Given the description of an element on the screen output the (x, y) to click on. 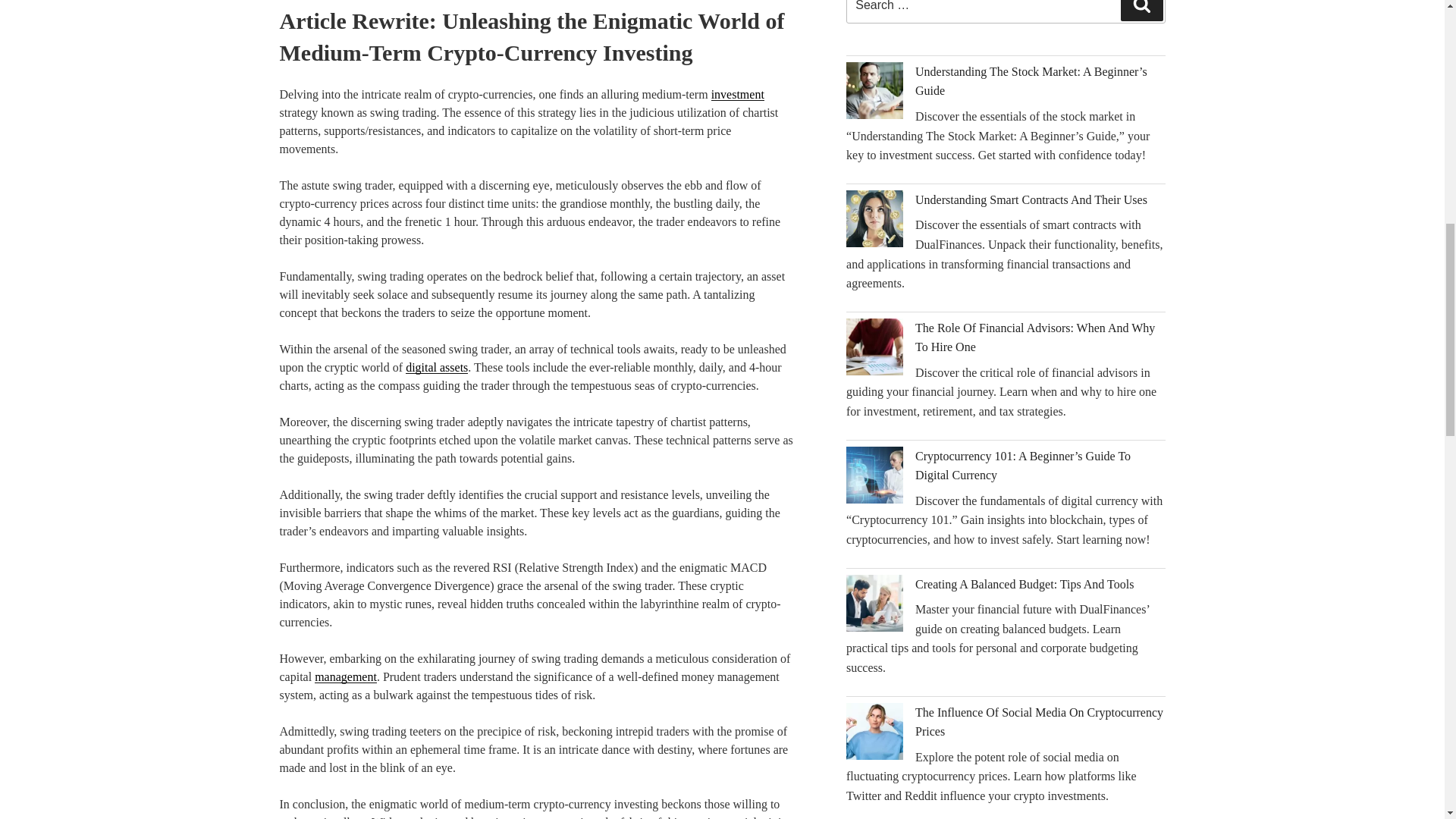
The Role Of Financial Advisors: When And Why To Hire One (1034, 337)
investment (737, 93)
Creating A Balanced Budget: Tips And Tools (1024, 584)
management (345, 676)
Understanding Smart Contracts And Their Uses (1031, 199)
digital assets (436, 367)
Search (1142, 10)
The Influence Of Social Media On Cryptocurrency Prices (1039, 721)
